Given the description of an element on the screen output the (x, y) to click on. 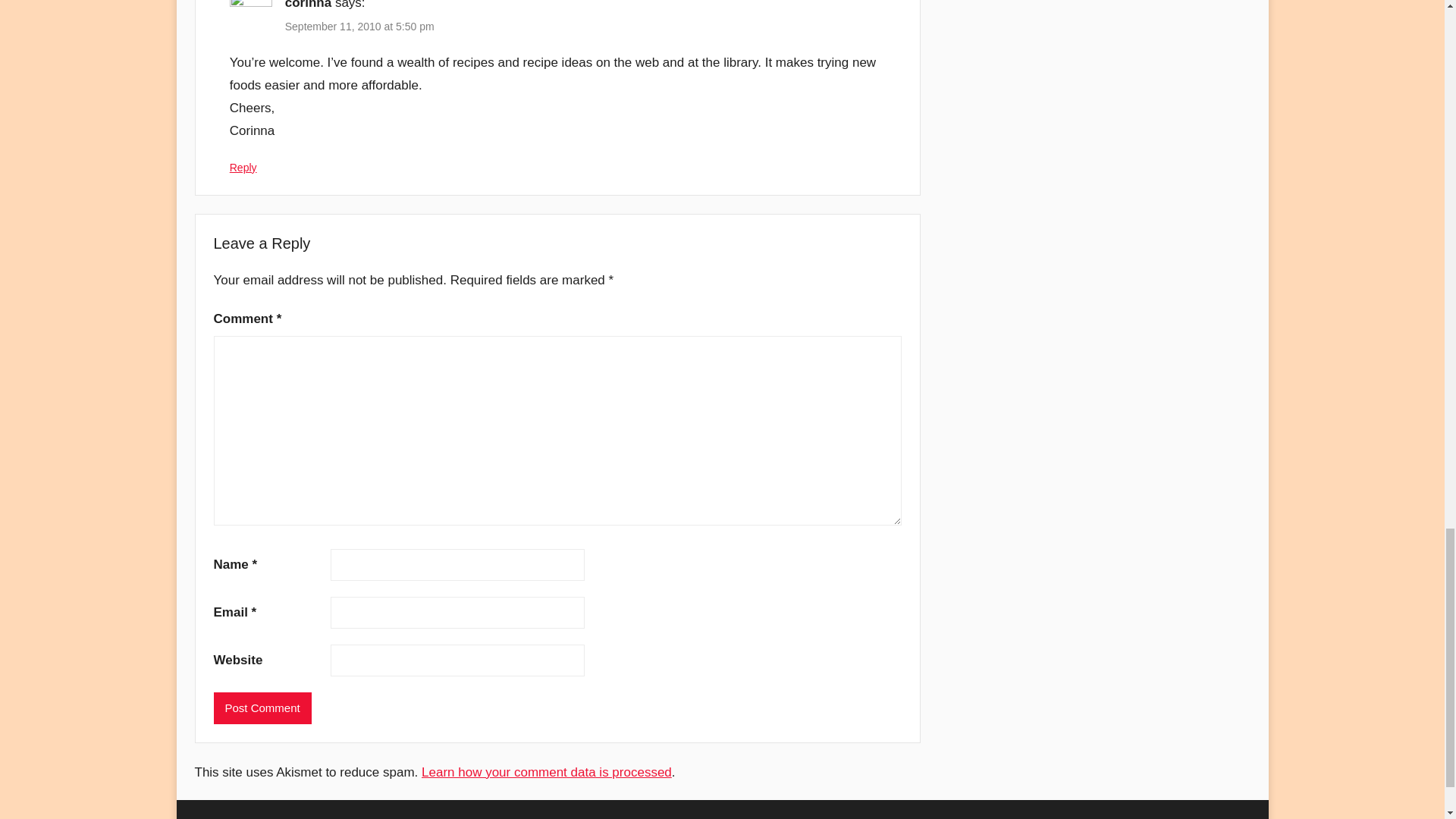
Learn how your comment data is processed (546, 771)
Reply (243, 167)
Post Comment (262, 707)
September 11, 2010 at 5:50 pm (359, 26)
Post Comment (262, 707)
